Given the description of an element on the screen output the (x, y) to click on. 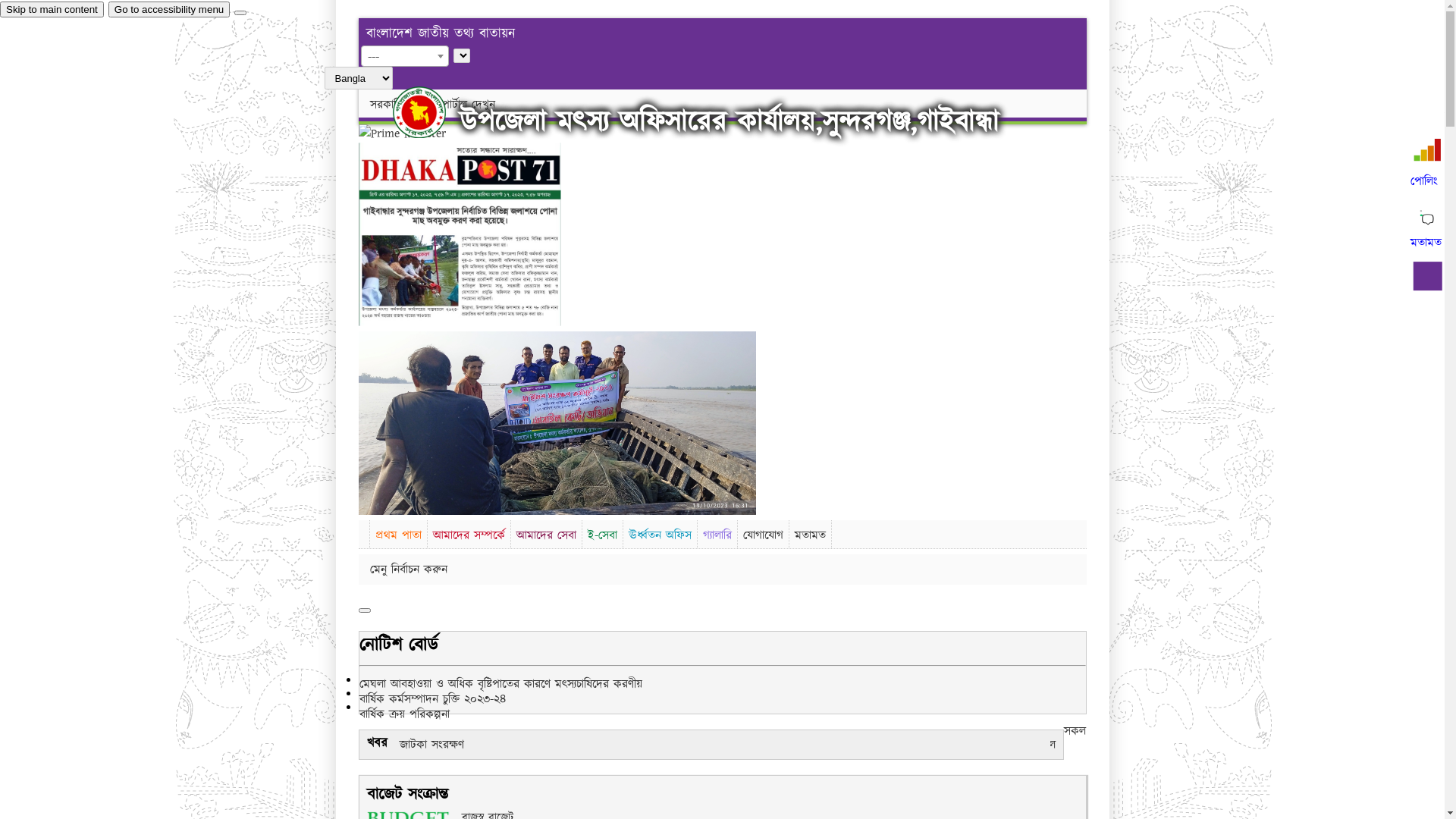

                
             Element type: hover (431, 112)
Skip to main content Element type: text (51, 9)
close Element type: hover (240, 12)
Go to accessibility menu Element type: text (168, 9)
